Given the description of an element on the screen output the (x, y) to click on. 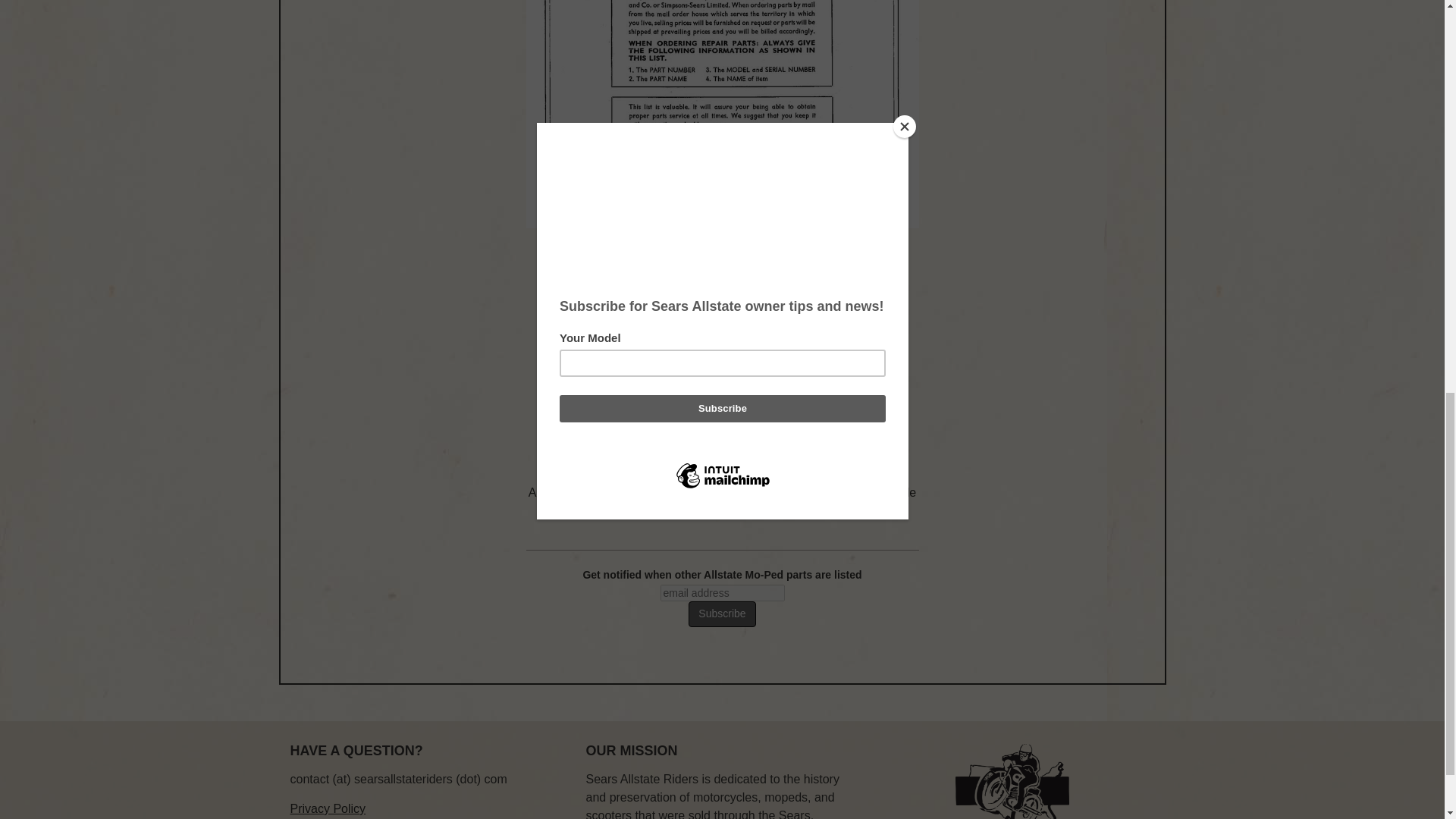
Add to Cart - PayPal check out (721, 434)
Add to Cart (721, 434)
Add to Cart (721, 434)
Subscribe (721, 614)
Privacy Policy (327, 808)
Subscribe (721, 614)
